Given the description of an element on the screen output the (x, y) to click on. 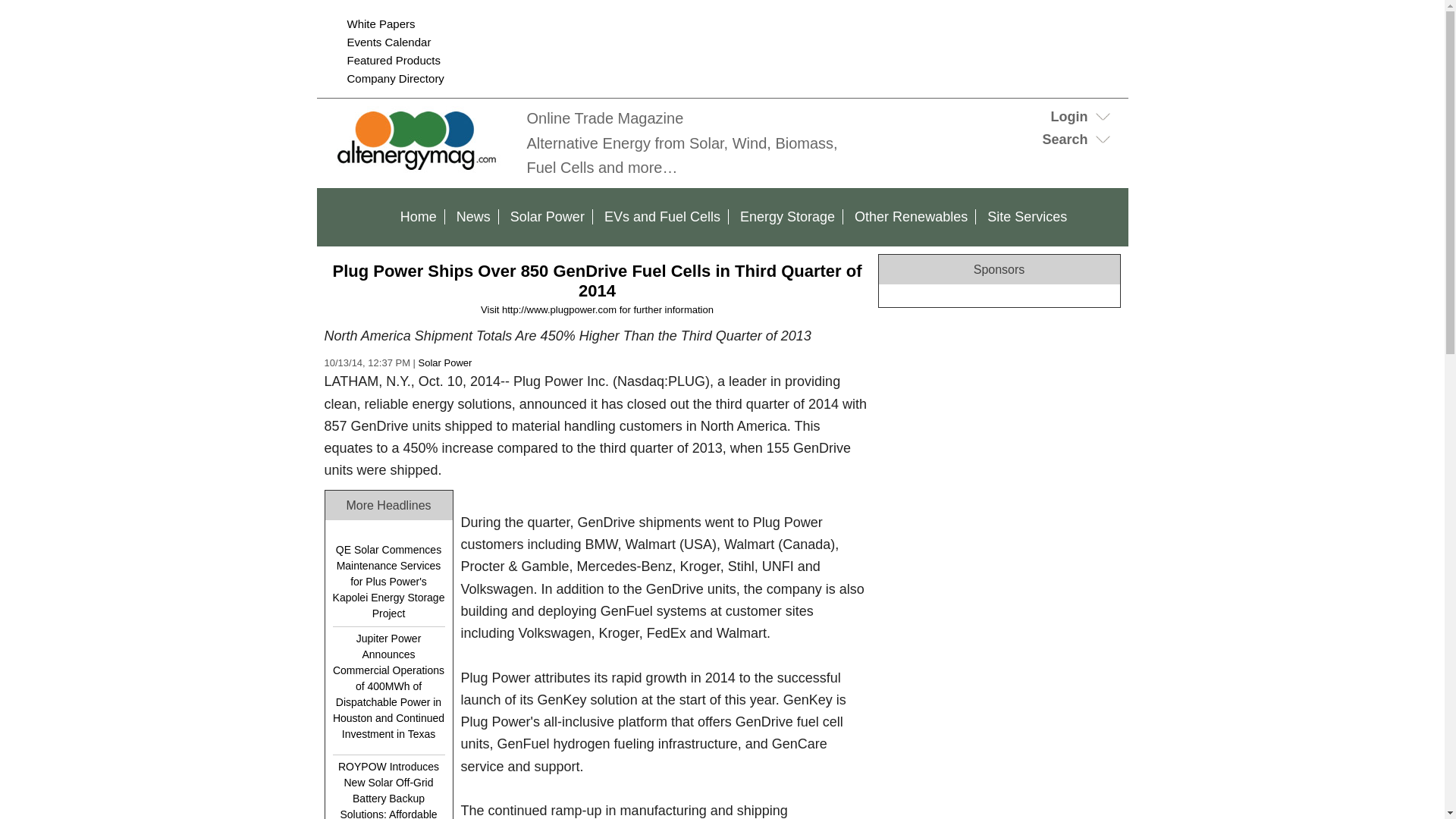
Other Renewables (911, 217)
Solar Power (445, 362)
AltEnergyMag (418, 167)
Home (418, 217)
White Papers (380, 23)
Solar Power (547, 217)
EVs and Fuel Cells (662, 217)
